Given the description of an element on the screen output the (x, y) to click on. 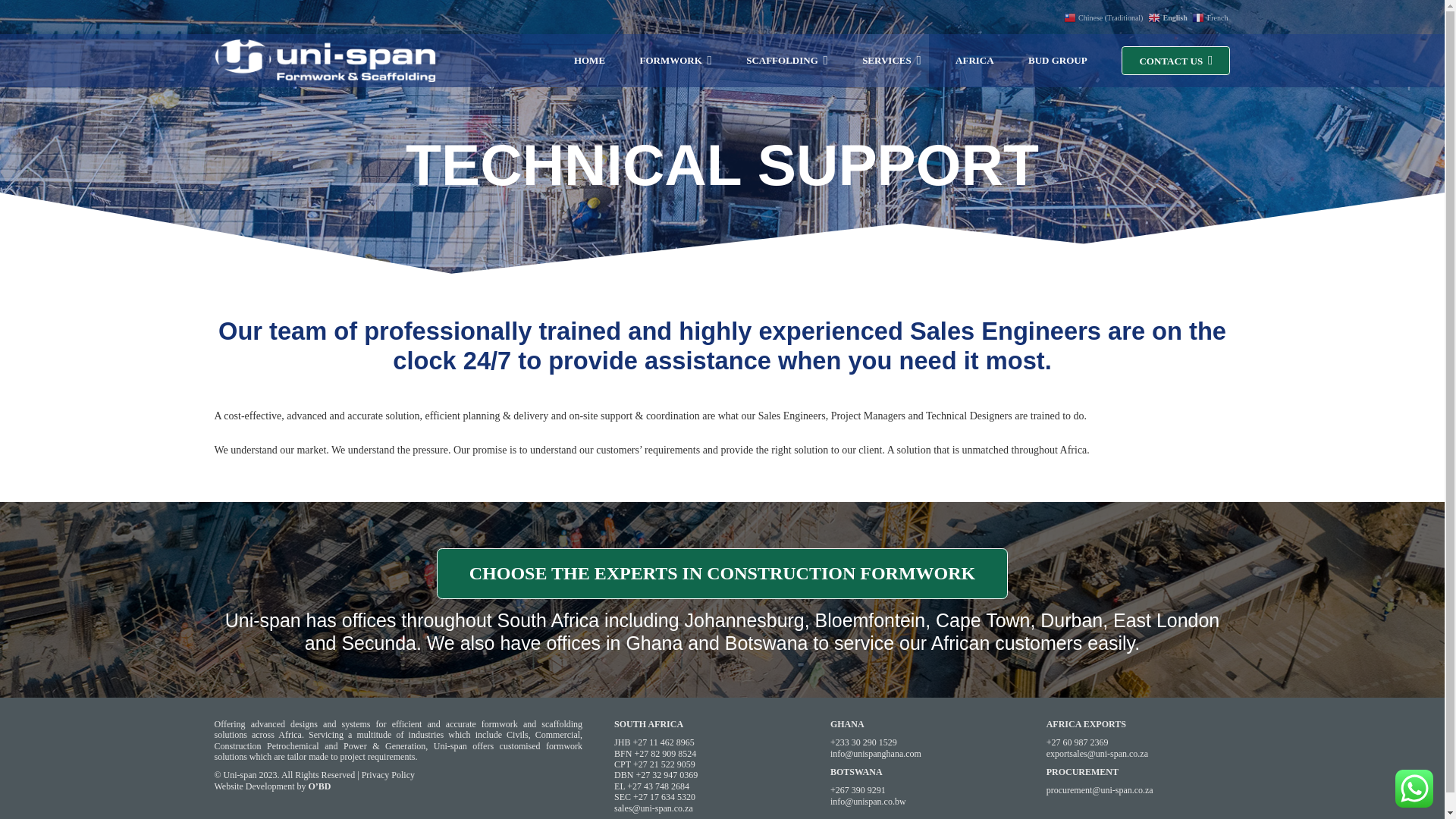
SCAFFOLDING (786, 60)
AFRICA (974, 60)
FORMWORK (675, 60)
CONTACT US (722, 572)
BUD GROUP (1057, 60)
French (1211, 16)
SERVICES (891, 60)
CONTACT US (1175, 60)
English (1168, 16)
